Given the description of an element on the screen output the (x, y) to click on. 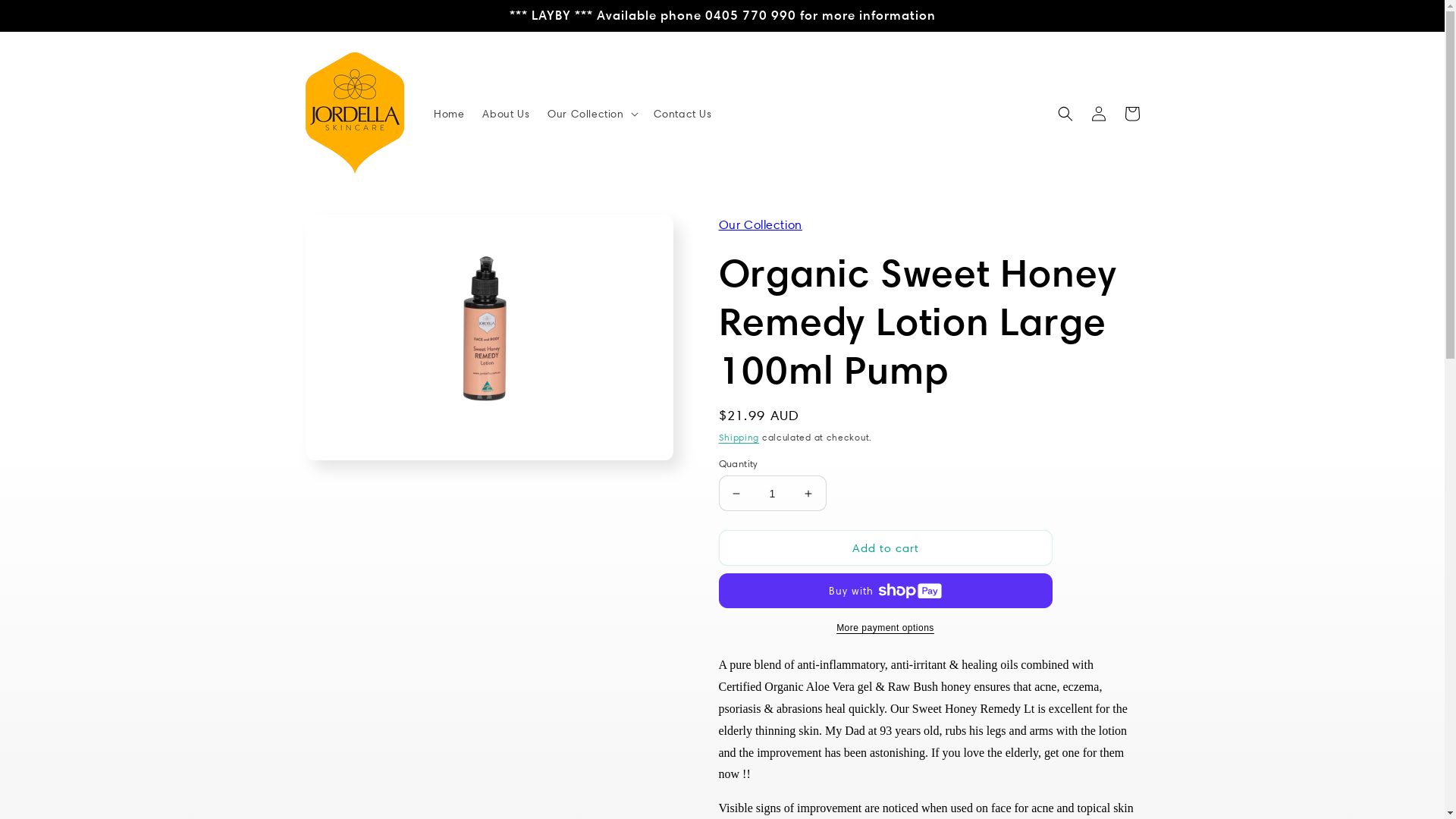
Contact Us Element type: text (682, 113)
Our Collection Element type: text (760, 224)
Log in Element type: text (1097, 113)
Add to cart Element type: text (885, 547)
Cart Element type: text (1131, 113)
Home Element type: text (448, 113)
Skip to product information Element type: text (350, 231)
More payment options Element type: text (885, 627)
Shipping Element type: text (738, 436)
About Us Element type: text (505, 113)
